Given the description of an element on the screen output the (x, y) to click on. 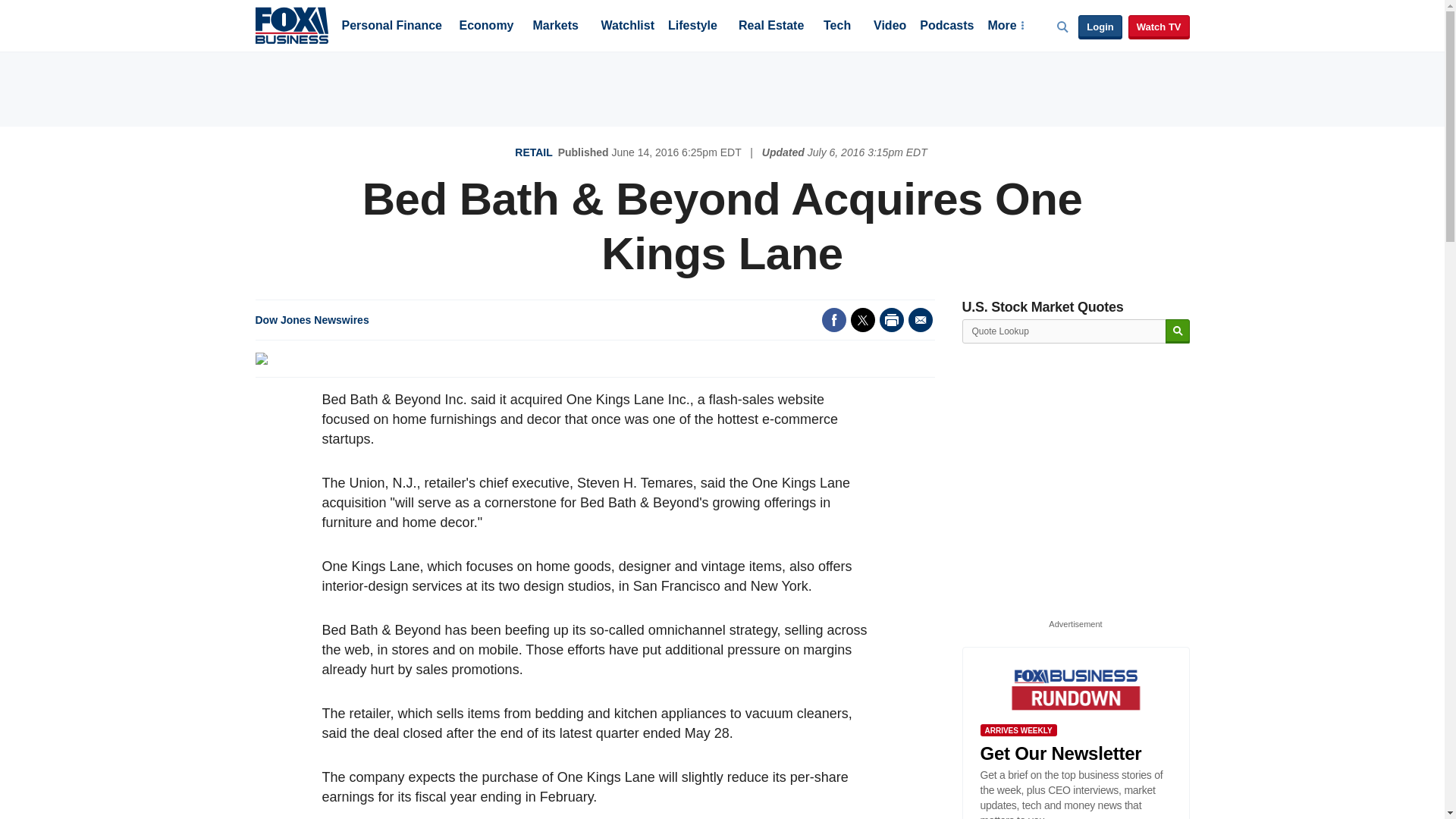
Login (1099, 27)
Search (1176, 331)
More (1005, 27)
Real Estate (770, 27)
Markets (555, 27)
Personal Finance (391, 27)
Watchlist (626, 27)
Podcasts (947, 27)
Search (1176, 331)
Video (889, 27)
